Given the description of an element on the screen output the (x, y) to click on. 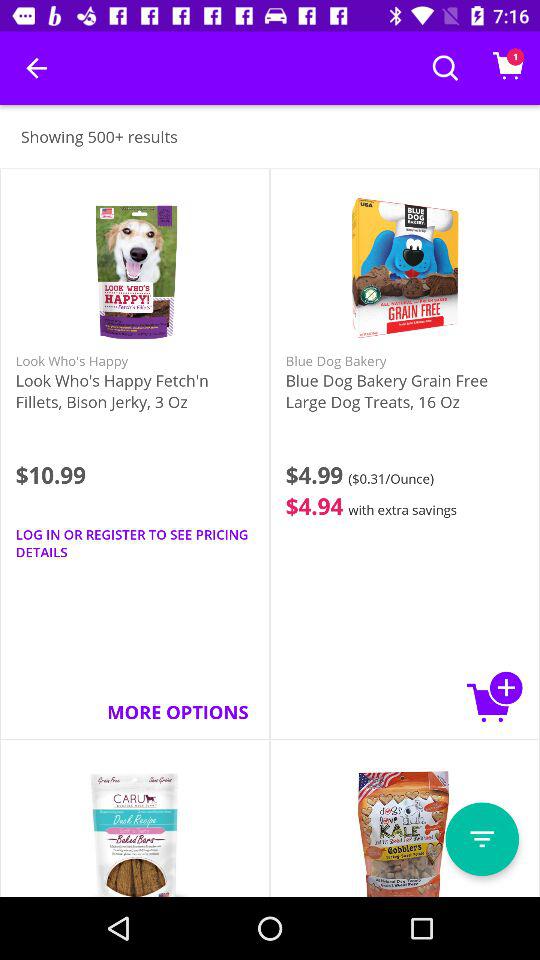
select the item next to the $4.94 icon (134, 543)
